Given the description of an element on the screen output the (x, y) to click on. 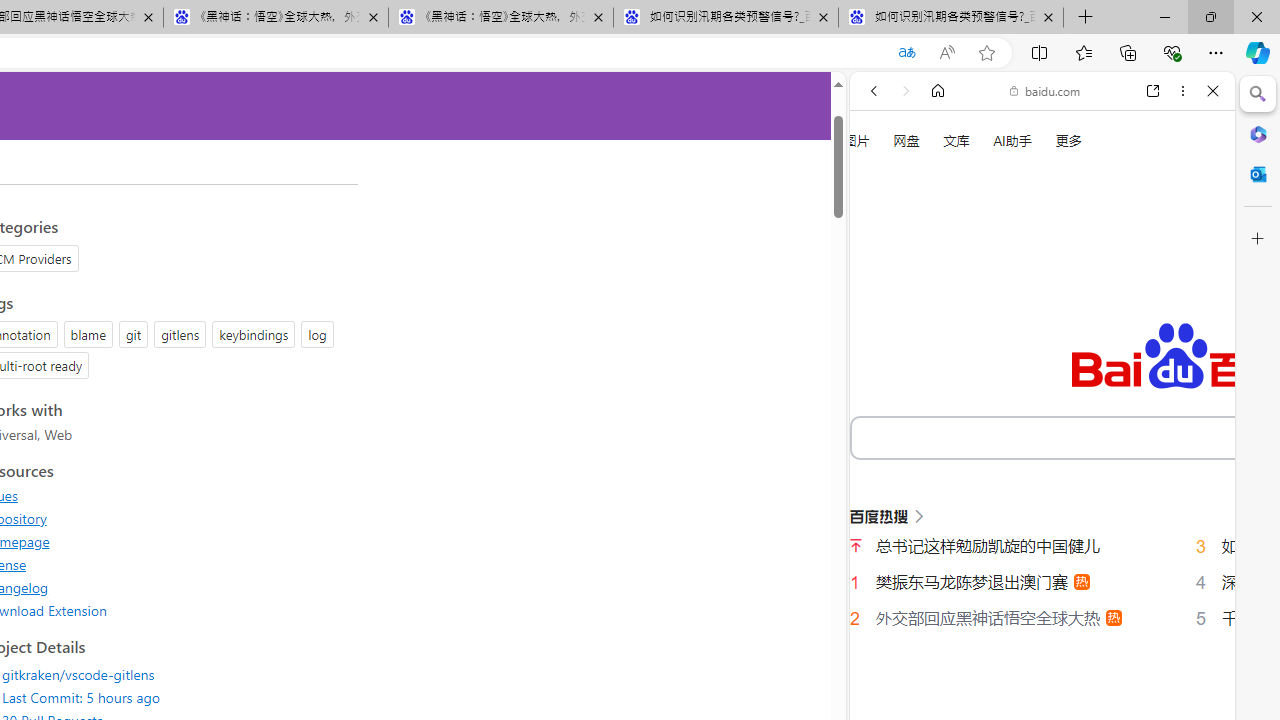
OF | English meaning - Cambridge Dictionary (1034, 419)
